Given the description of an element on the screen output the (x, y) to click on. 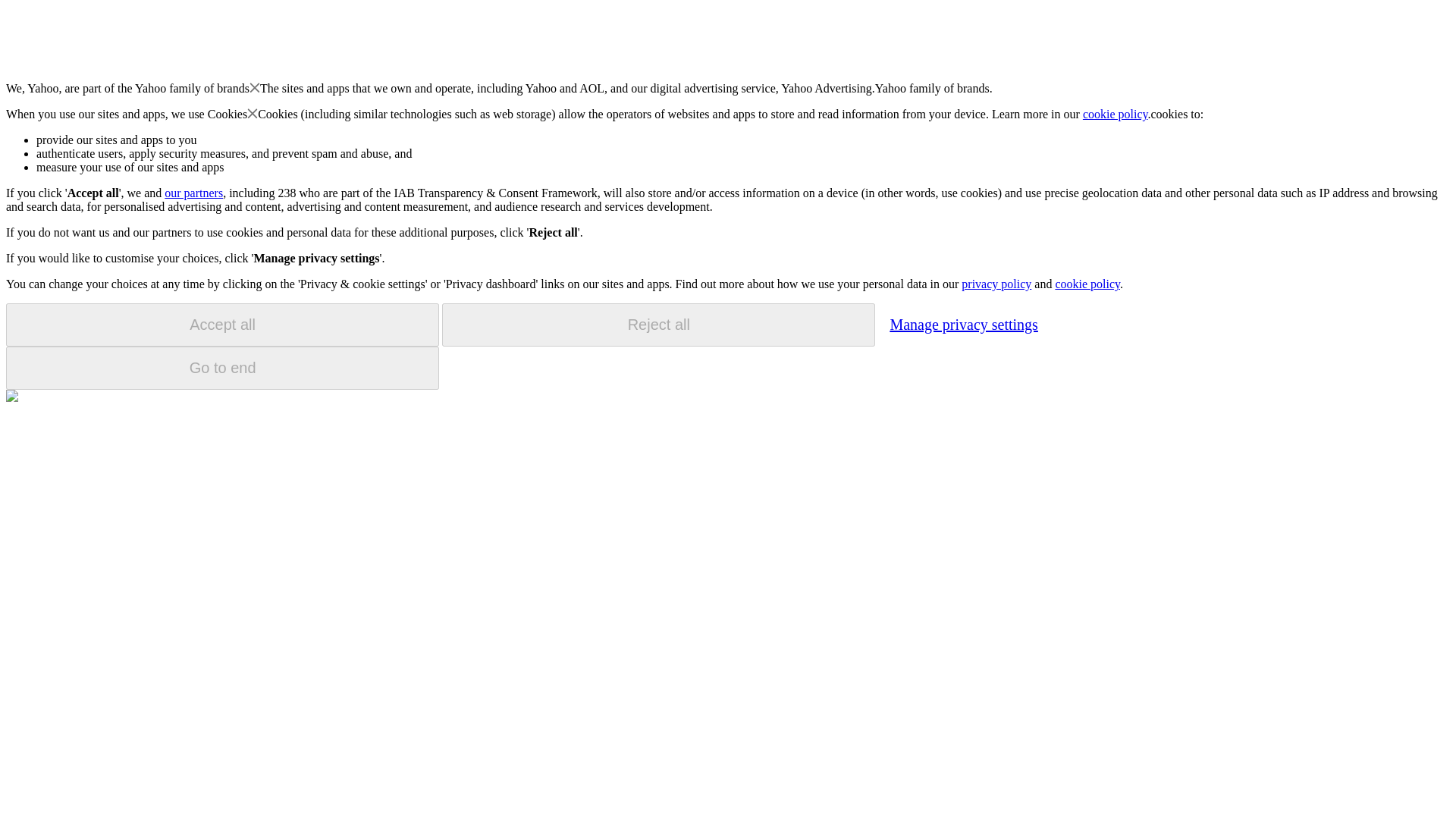
Accept all (222, 324)
Reject all (658, 324)
privacy policy (995, 283)
Manage privacy settings (963, 323)
cookie policy (1115, 113)
Go to end (222, 367)
cookie policy (1086, 283)
our partners (193, 192)
